Given the description of an element on the screen output the (x, y) to click on. 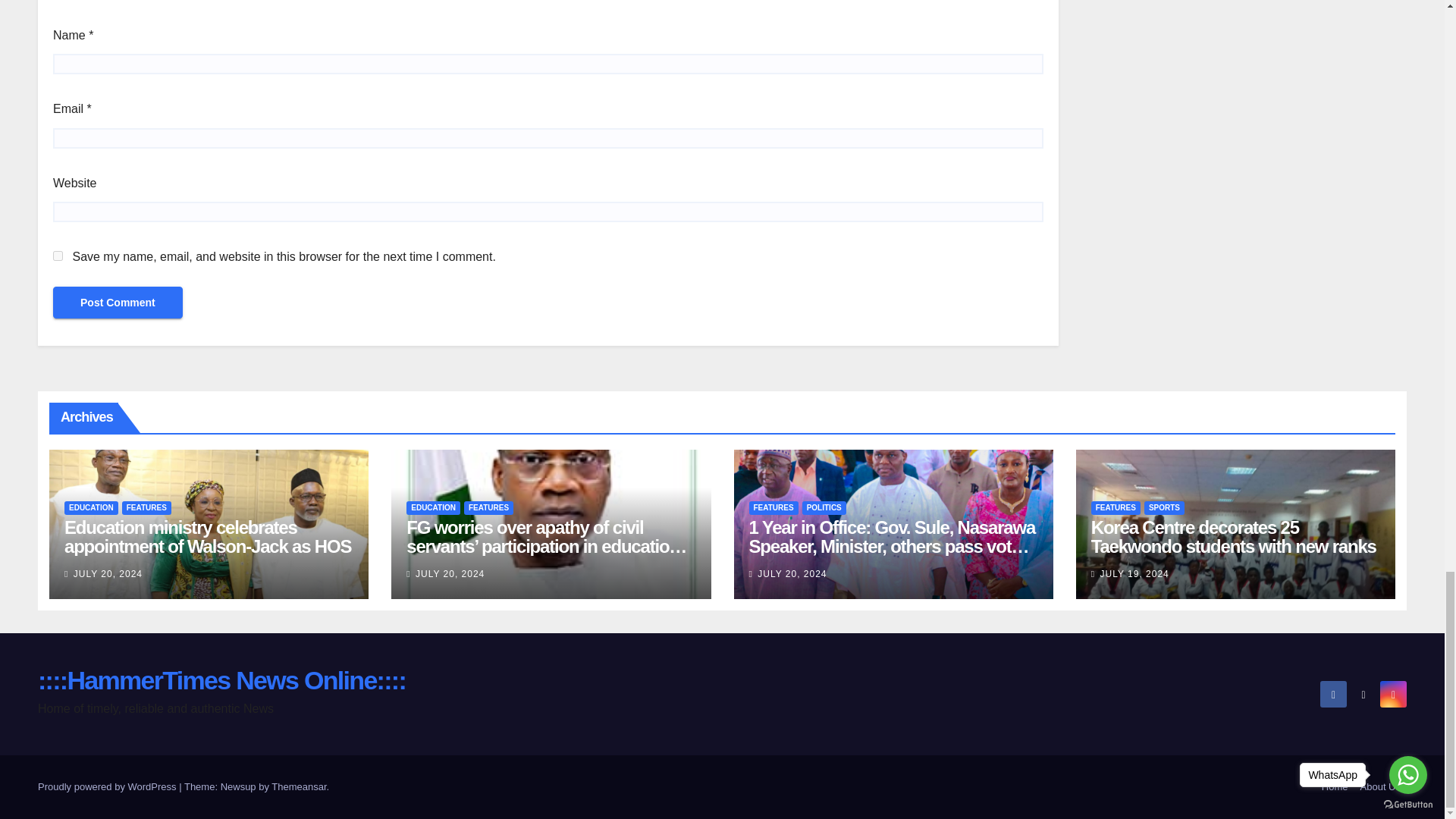
Post Comment (117, 302)
yes (57, 255)
Post Comment (117, 302)
Home (1335, 786)
